Given the description of an element on the screen output the (x, y) to click on. 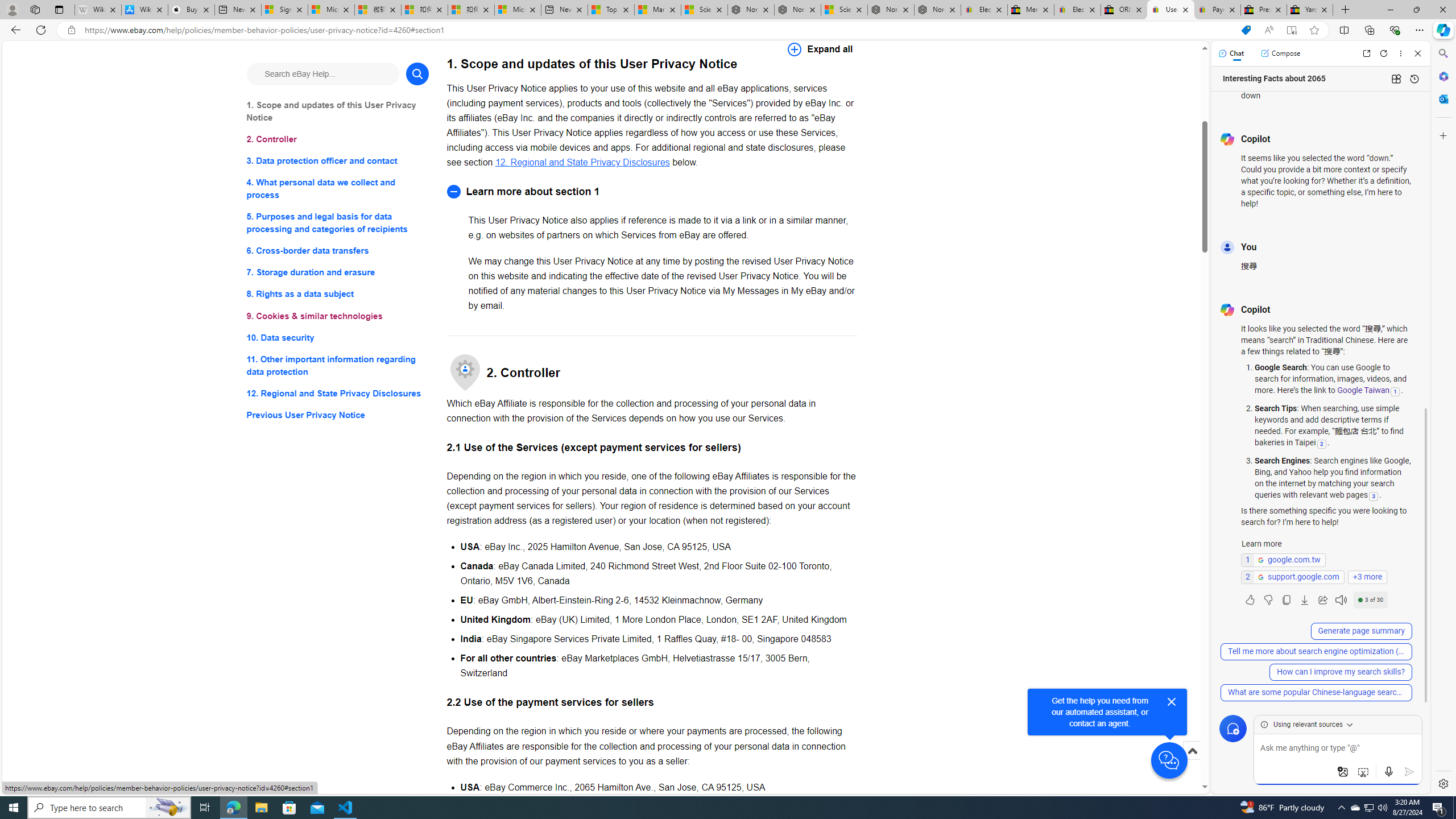
Nordace - Summer Adventures 2024 (890, 9)
